Given the description of an element on the screen output the (x, y) to click on. 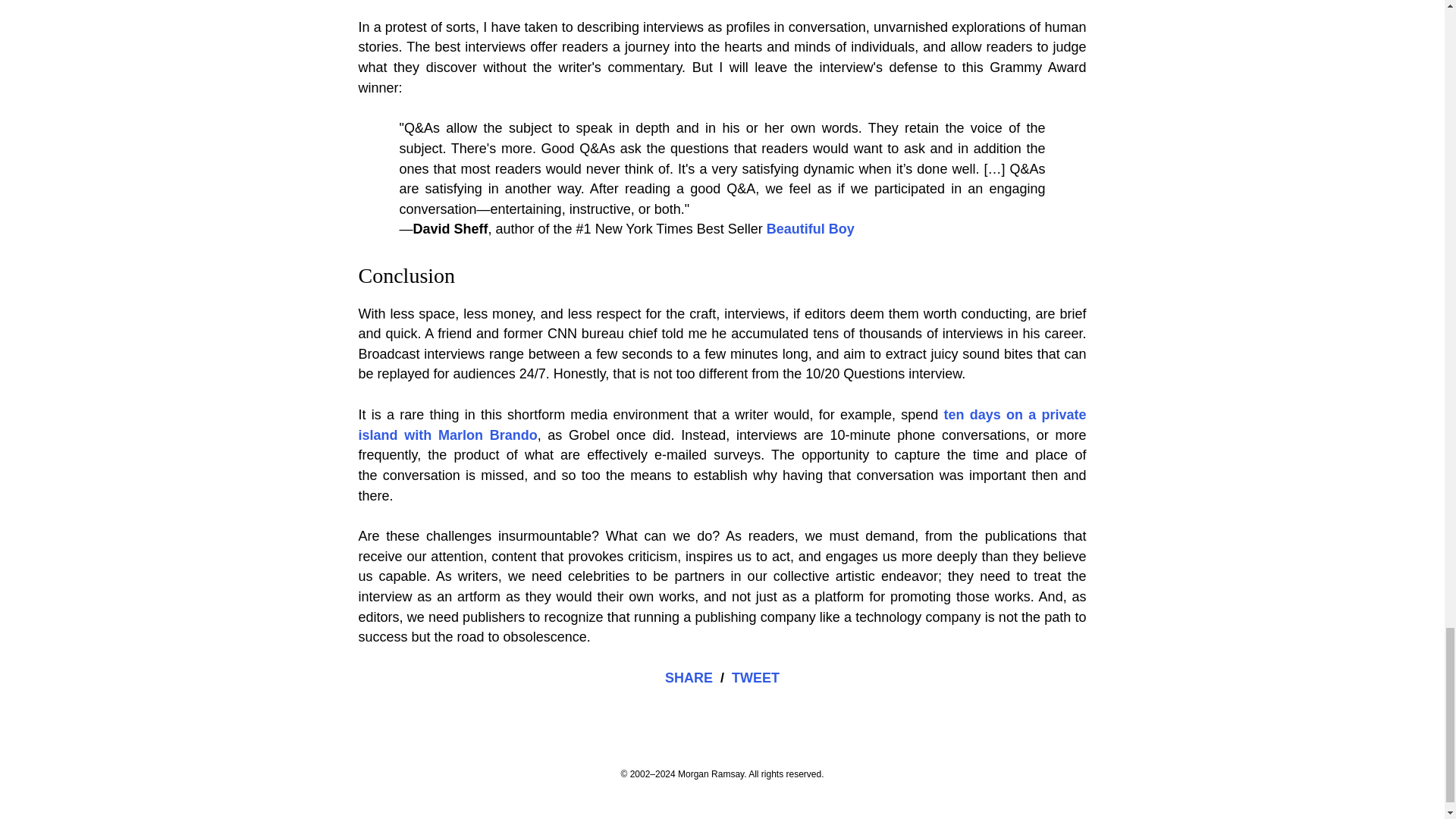
Beautiful Boy (810, 228)
SHARE (689, 677)
TWEET (755, 677)
ten days on a private island with Marlon Brando (722, 425)
